Given the description of an element on the screen output the (x, y) to click on. 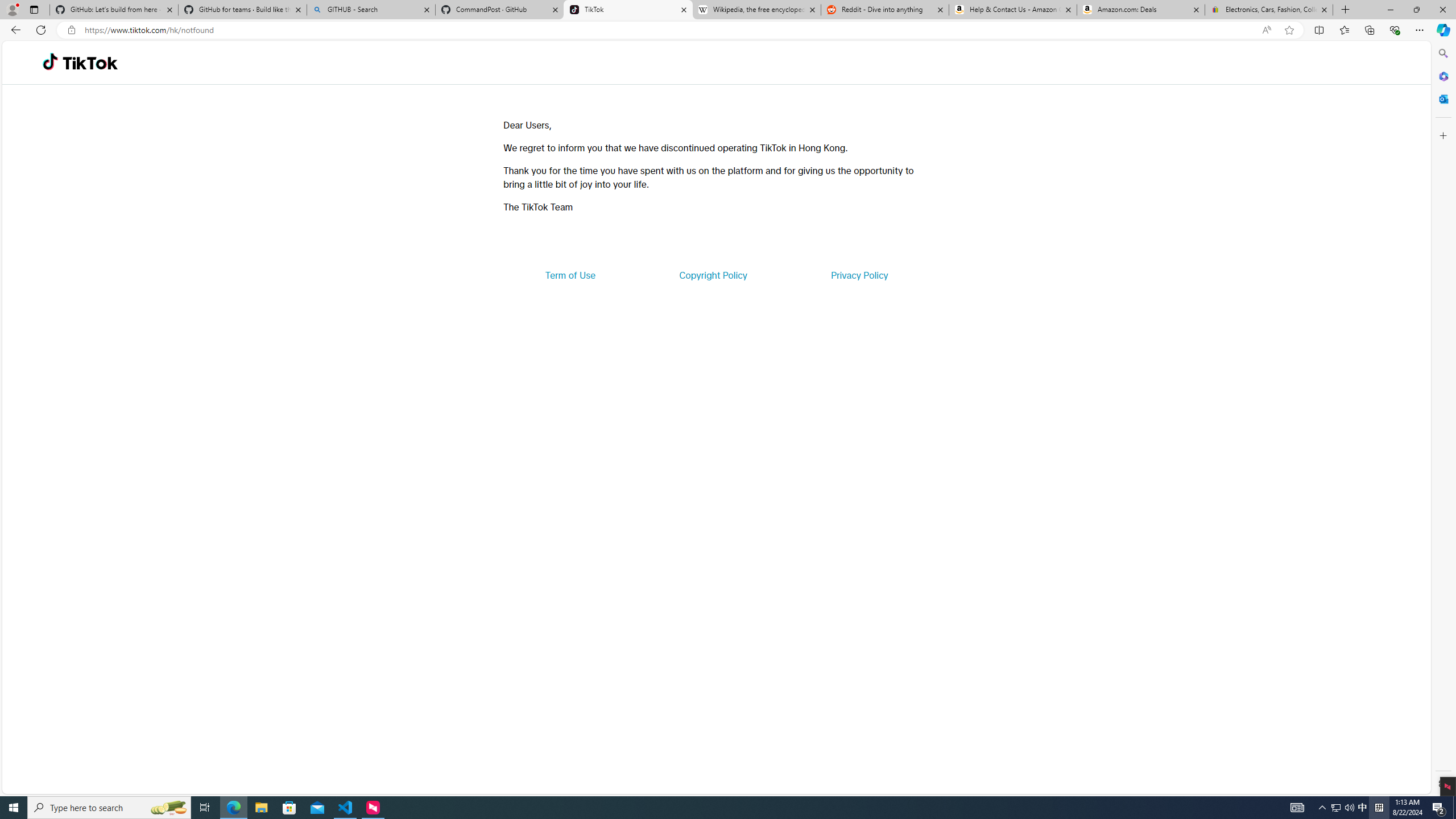
Reddit - Dive into anything (884, 9)
Side bar (1443, 418)
GITHUB - Search (370, 9)
Wikipedia, the free encyclopedia (756, 9)
